Given the description of an element on the screen output the (x, y) to click on. 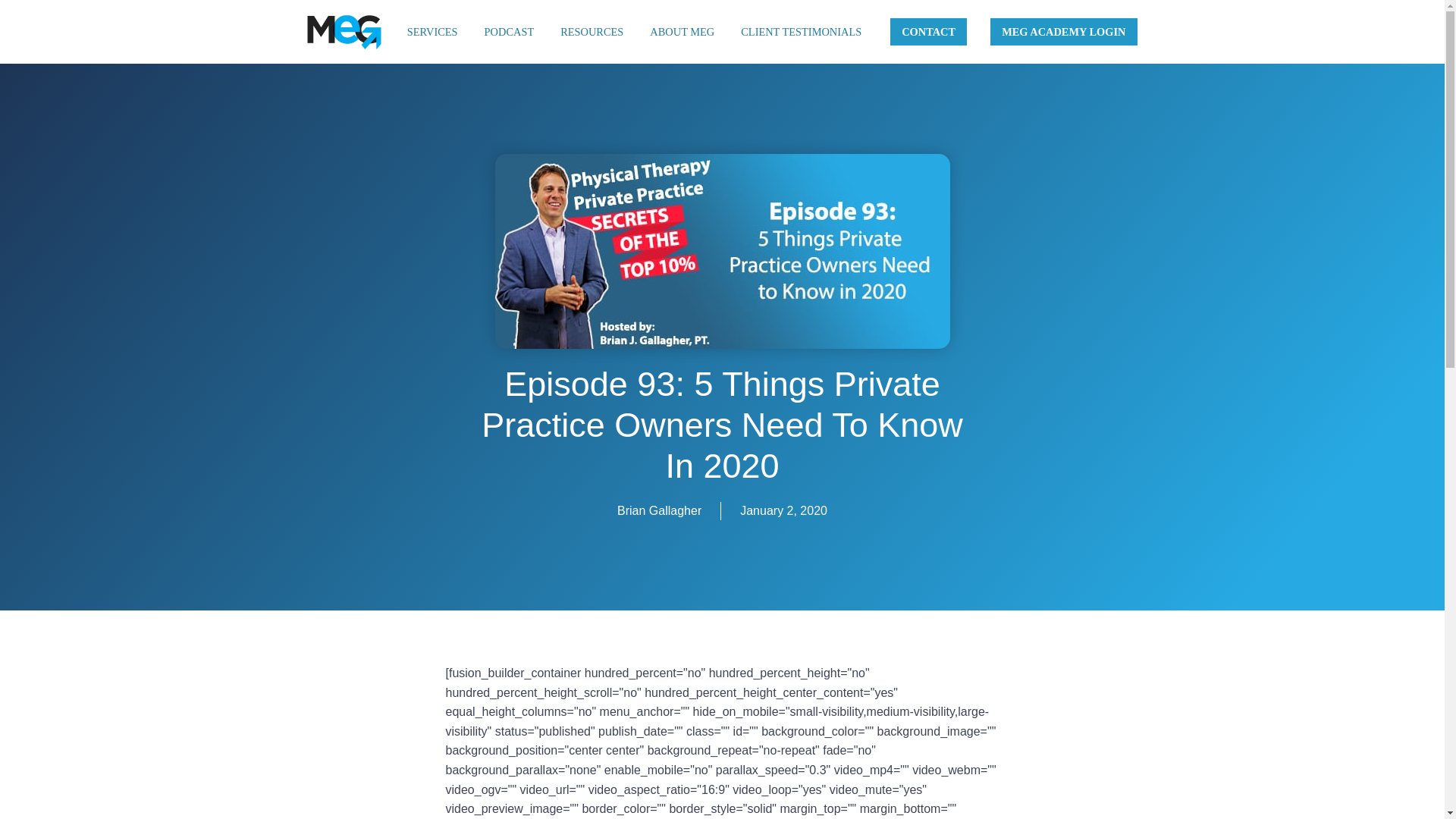
ABOUT MEG (681, 31)
CONTACT (928, 31)
RESOURCES (591, 31)
CLIENT TESTIMONIALS (801, 31)
MEG ACADEMY LOGIN (1063, 31)
